Given the description of an element on the screen output the (x, y) to click on. 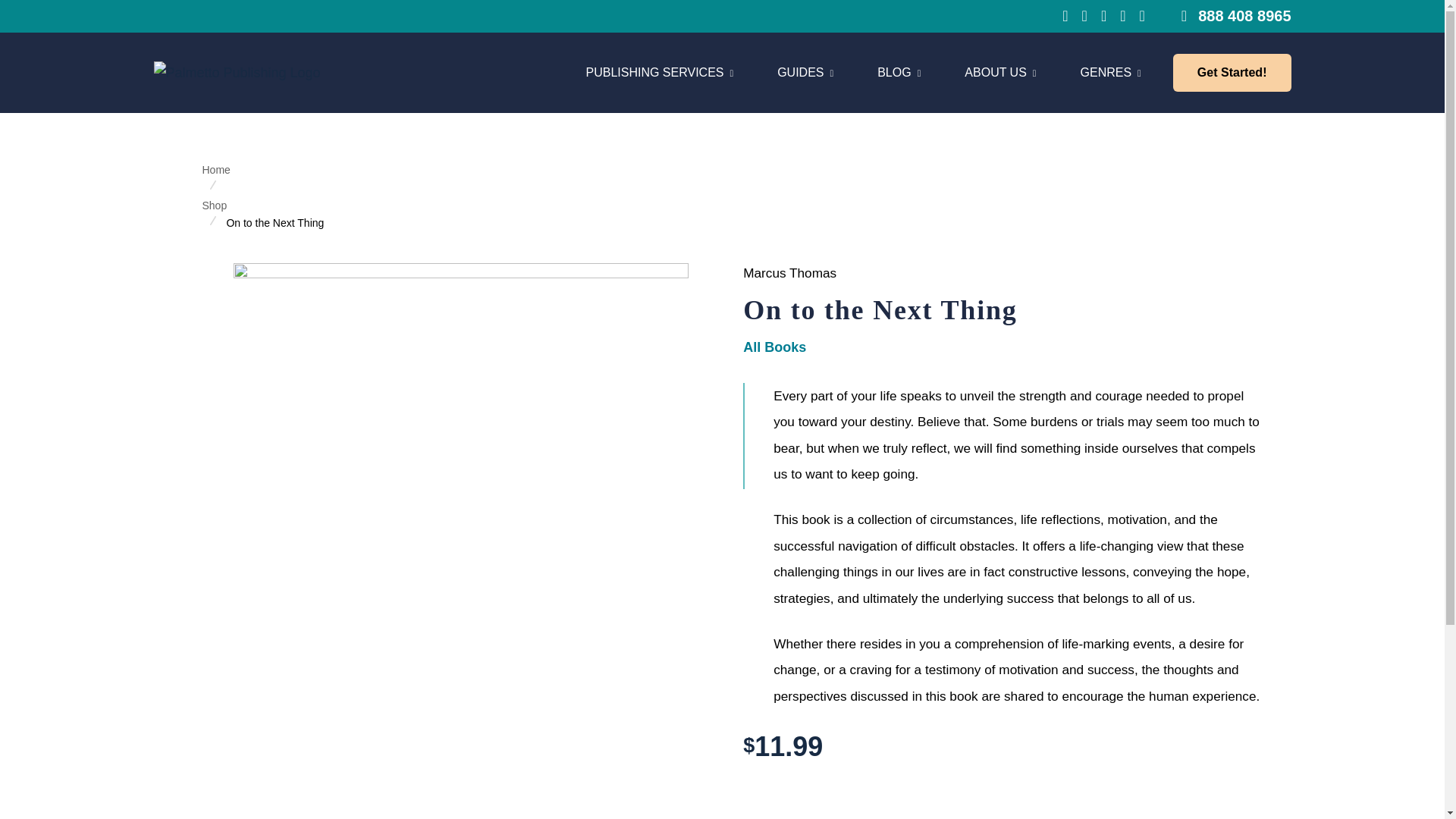
ABOUT US (1000, 72)
BLOG (866, 72)
GUIDES (899, 72)
Skip Navigation (804, 72)
888 408 8965 (659, 72)
